Given the description of an element on the screen output the (x, y) to click on. 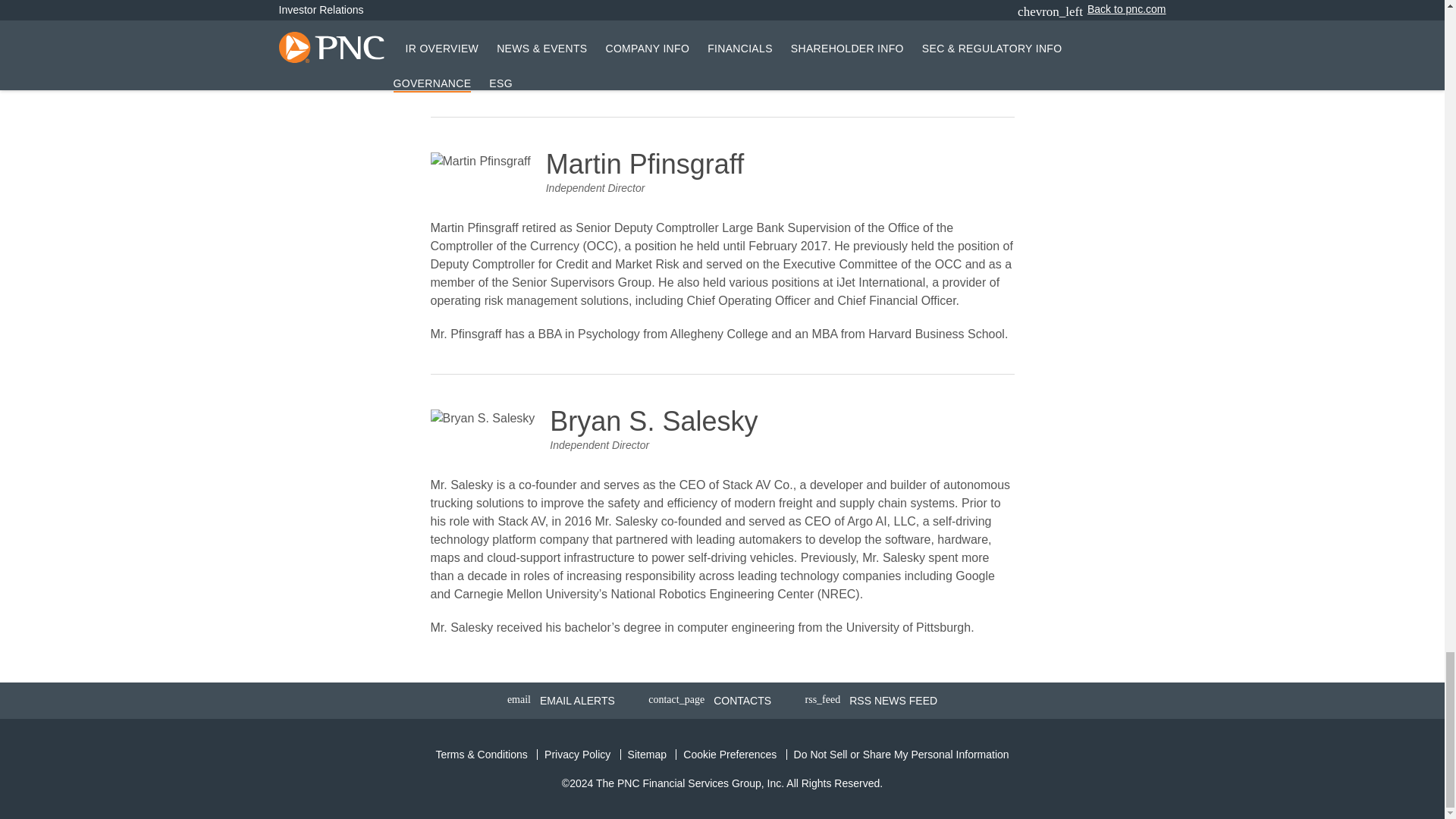
Opens in a new window (871, 700)
Bryan S. Salesky (482, 418)
Opens in a new window (481, 754)
Martin Pfinsgraff (480, 161)
